Given the description of an element on the screen output the (x, y) to click on. 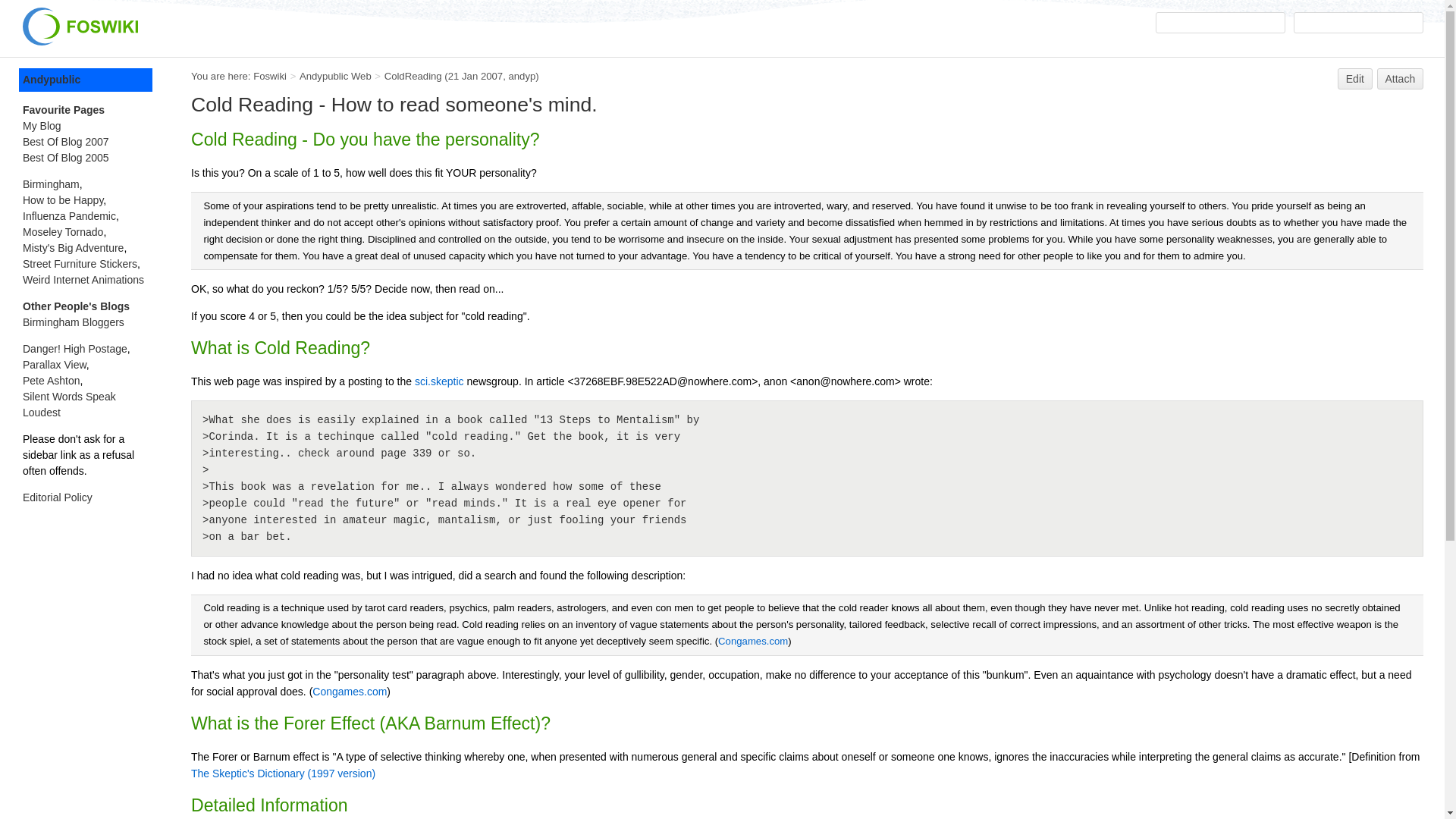
Search (1358, 22)
Foswiki (269, 75)
Congames.com (752, 641)
Attach an image or document to this topic (1400, 78)
My Blog (42, 125)
sci.skeptic (439, 381)
ColdReading (413, 75)
Best Of Blog 2005 (66, 157)
Attach (1400, 78)
Edit this topic text (1355, 78)
